Given the description of an element on the screen output the (x, y) to click on. 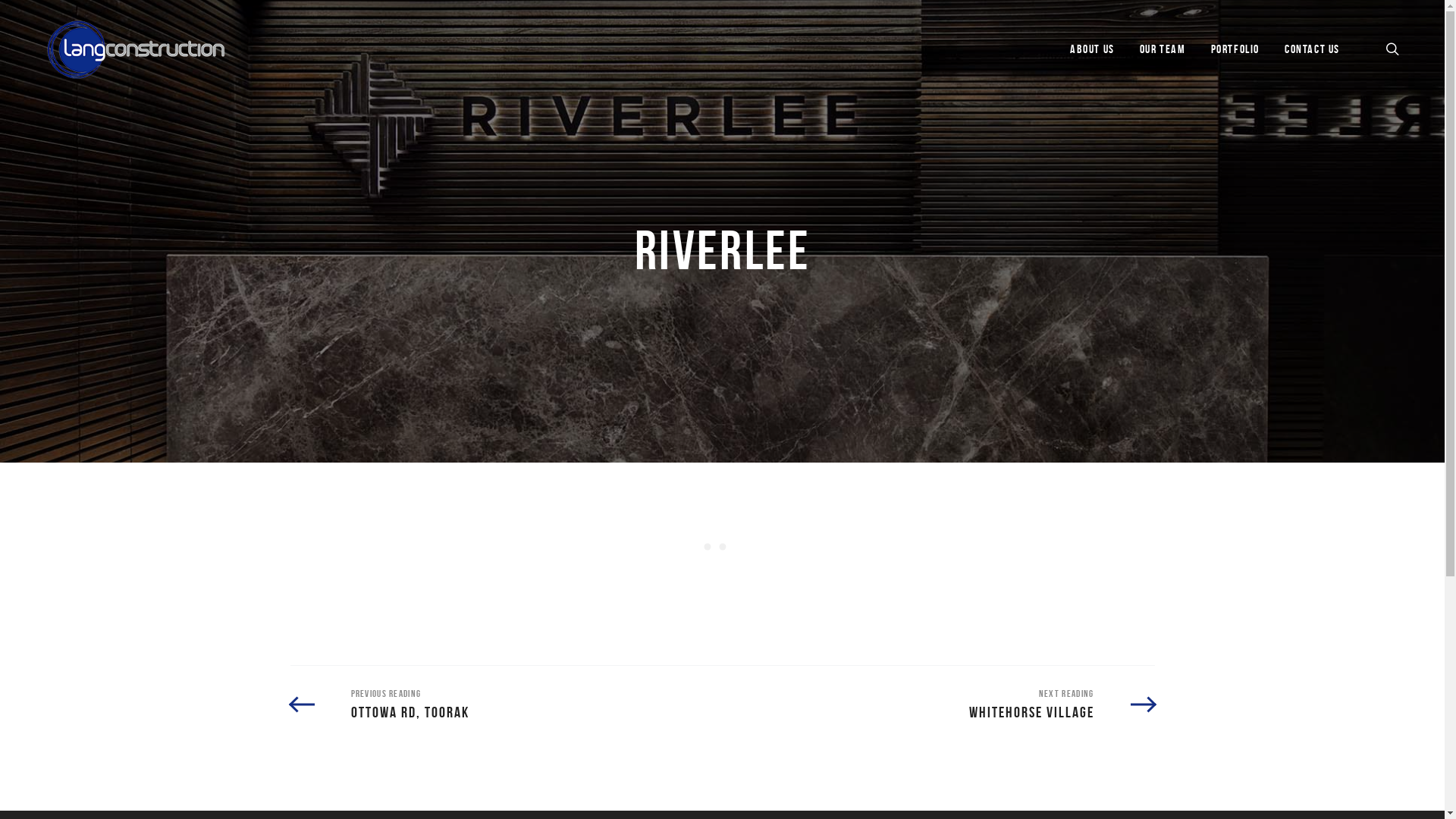
NEXT READING
WHITEHORSE VILLAGE Element type: text (1061, 703)
Kooroora Mt Buller Element type: text (777, 617)
Search Element type: text (985, 408)
Whitehorse Village Element type: text (776, 636)
PORTFOLIO Element type: text (1235, 49)
Portfolio Element type: text (544, 626)
Gipps Street Element type: text (761, 655)
CONTACT US Element type: text (1311, 49)
Our Team Element type: text (547, 601)
ABOUT US Element type: text (1092, 49)
Piccolo Element type: text (750, 674)
Riverlee Element type: text (751, 598)
About Us Element type: text (545, 577)
Be Like That. Element type: text (287, 786)
Contact Us Element type: text (550, 650)
OUR TEAM Element type: text (1162, 49)
PREVIOUS READING
OTTOWA RD, TOORAK Element type: text (378, 703)
Collins Square Element type: text (766, 579)
